Given the description of an element on the screen output the (x, y) to click on. 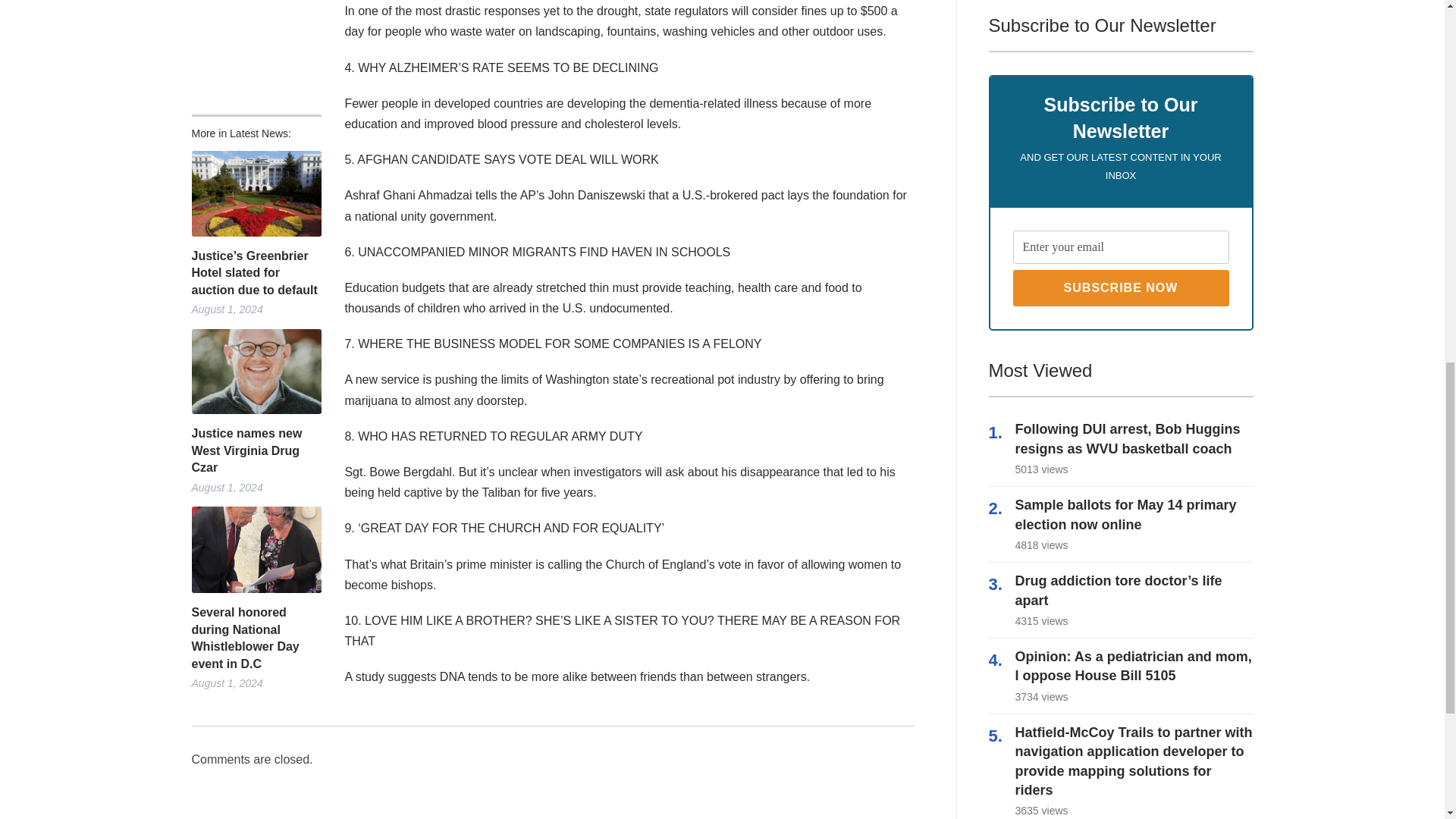
Permalink to Justice names new West Virginia Drug Czar (255, 371)
Subscribe Now (1120, 288)
Permalink to Justice names new West Virginia Drug Czar (255, 450)
